Given the description of an element on the screen output the (x, y) to click on. 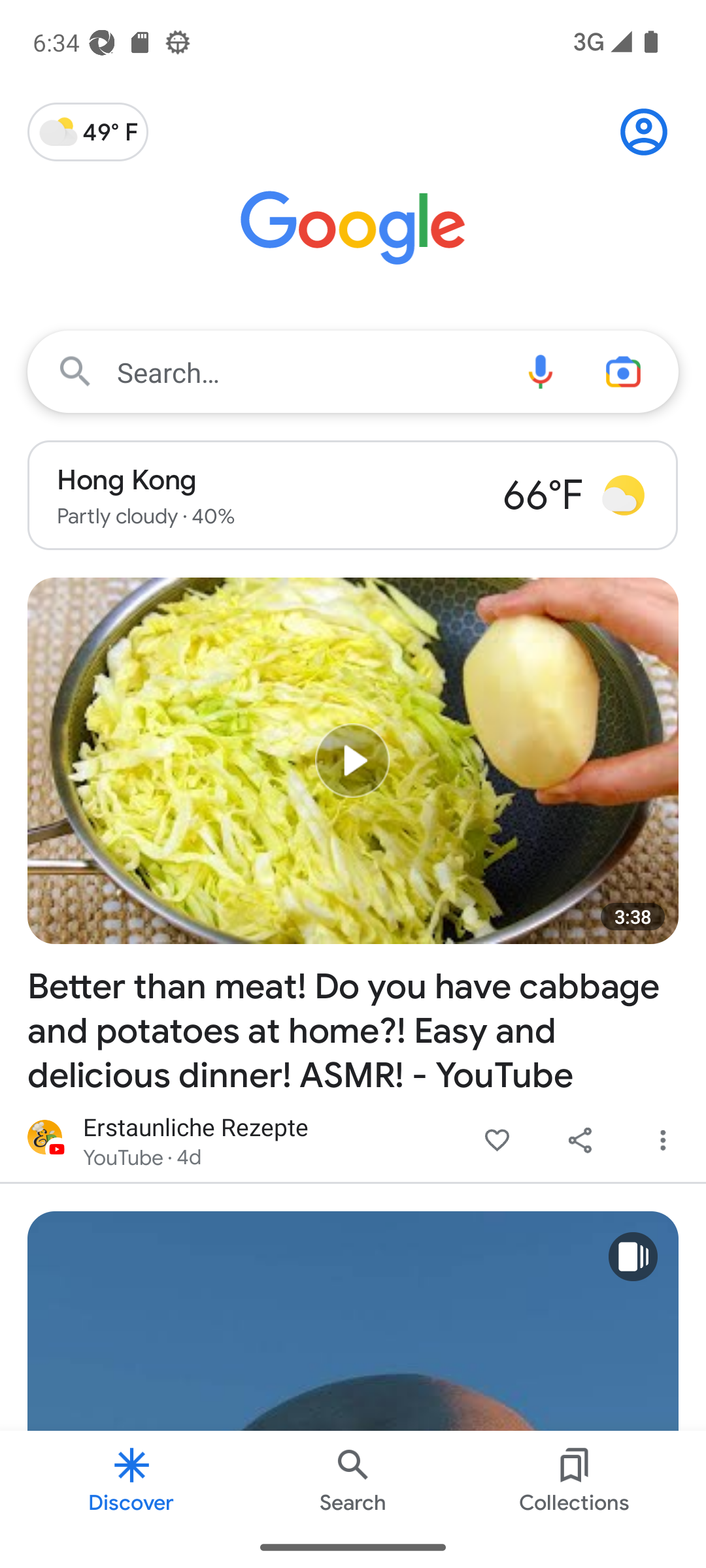
Cloudy 49° F (87, 131)
Sign in (650, 131)
Search… Search… Voice search Camera search (352, 371)
Voice search (540, 371)
Camera search (629, 371)
Like (496, 1140)
More options (662, 1140)
Search (352, 1478)
Collections Button Collections (573, 1478)
